Given the description of an element on the screen output the (x, y) to click on. 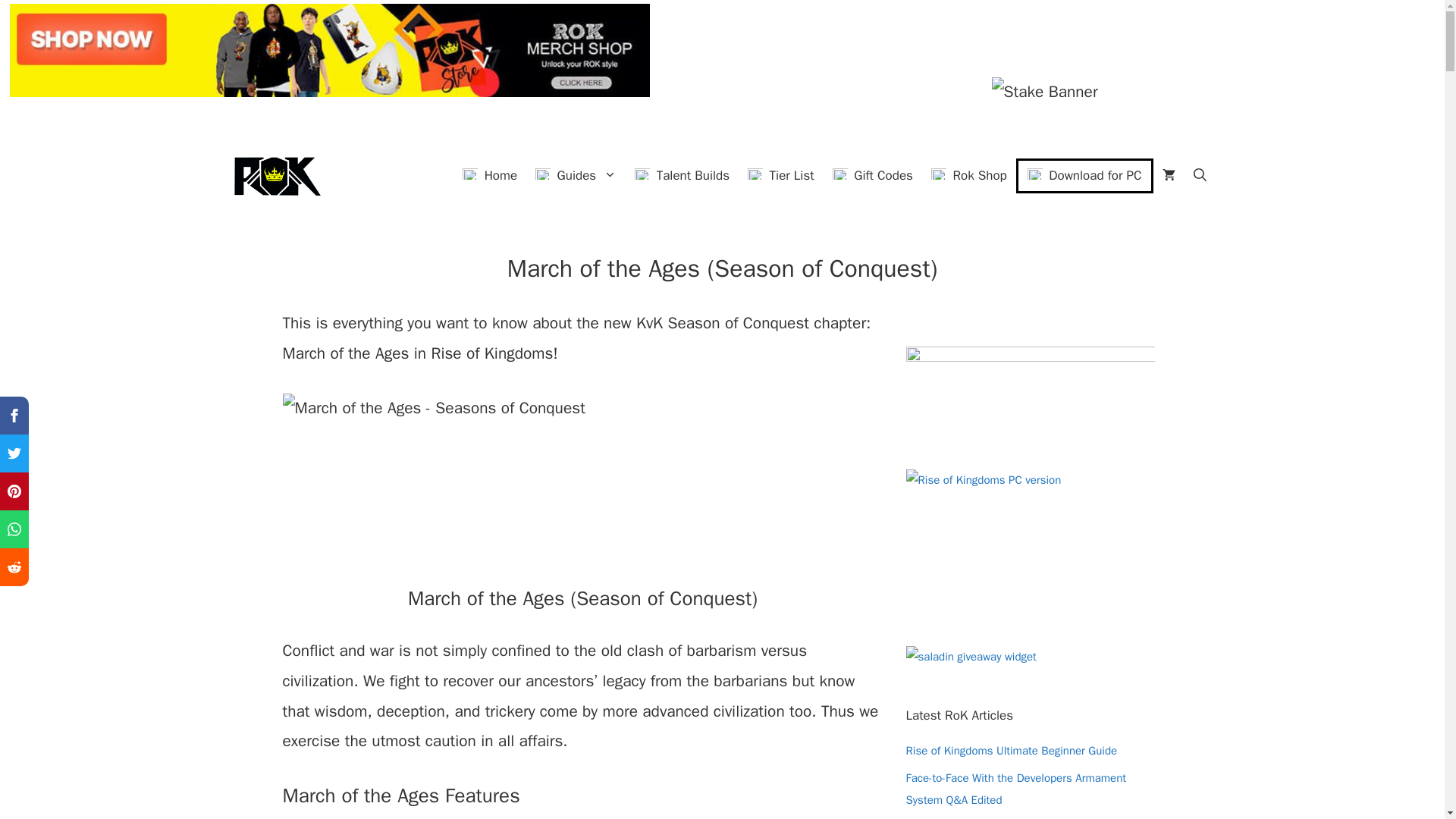
Rise of Kingdoms (274, 175)
Rise of Kingdoms (274, 176)
Home (488, 175)
View your shopping cart (1168, 175)
Guides (575, 175)
